Given the description of an element on the screen output the (x, y) to click on. 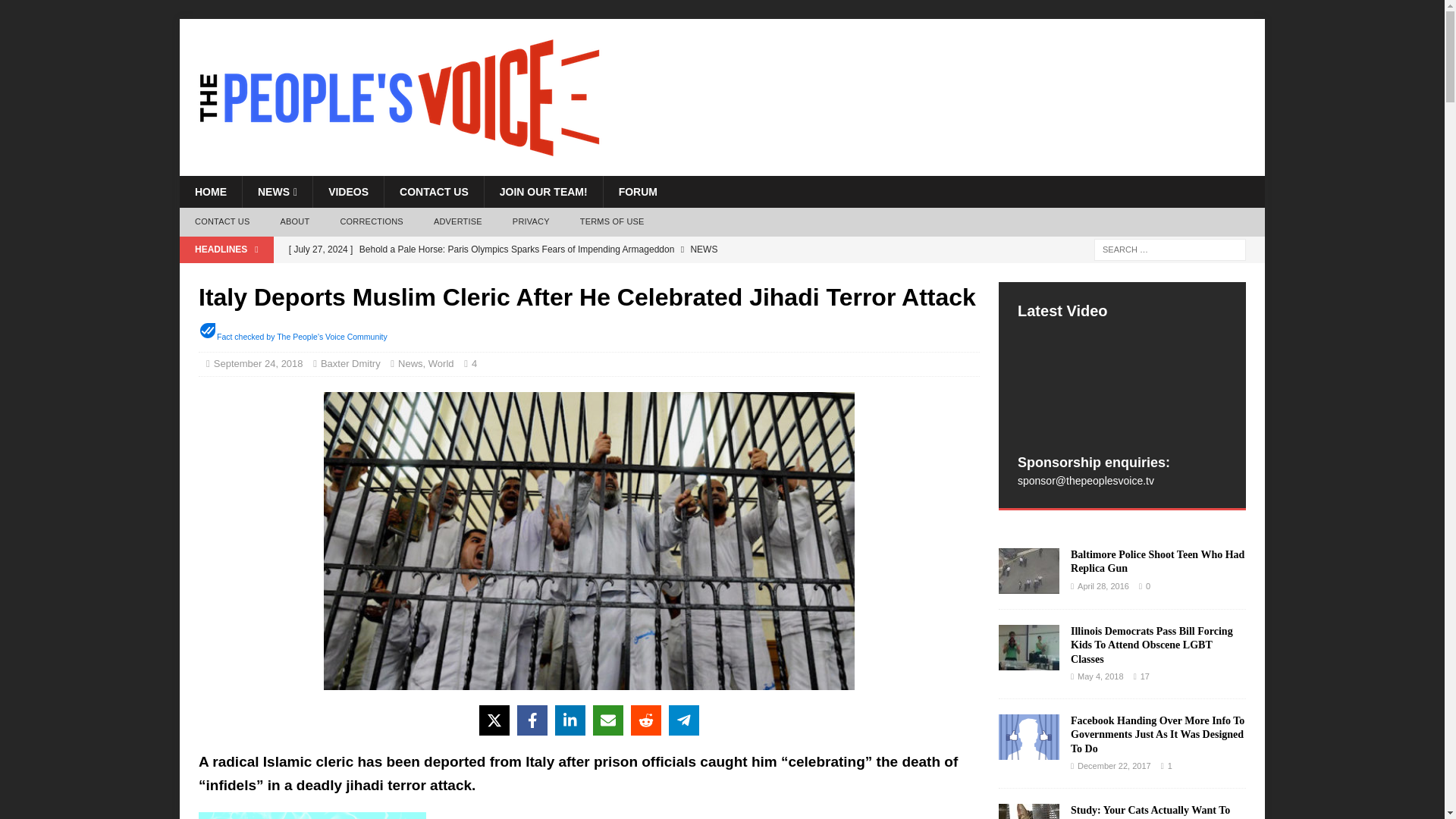
JOIN OUR TEAM! (542, 192)
VIDEOS (348, 192)
ABOUT (294, 222)
CORRECTIONS (370, 222)
HOME (210, 192)
NEWS (277, 192)
PRIVACY (530, 222)
ADVERTISE (458, 222)
CONTACT US (221, 222)
TERMS OF USE (611, 222)
FORUM (637, 192)
CONTACT US (433, 192)
